Given the description of an element on the screen output the (x, y) to click on. 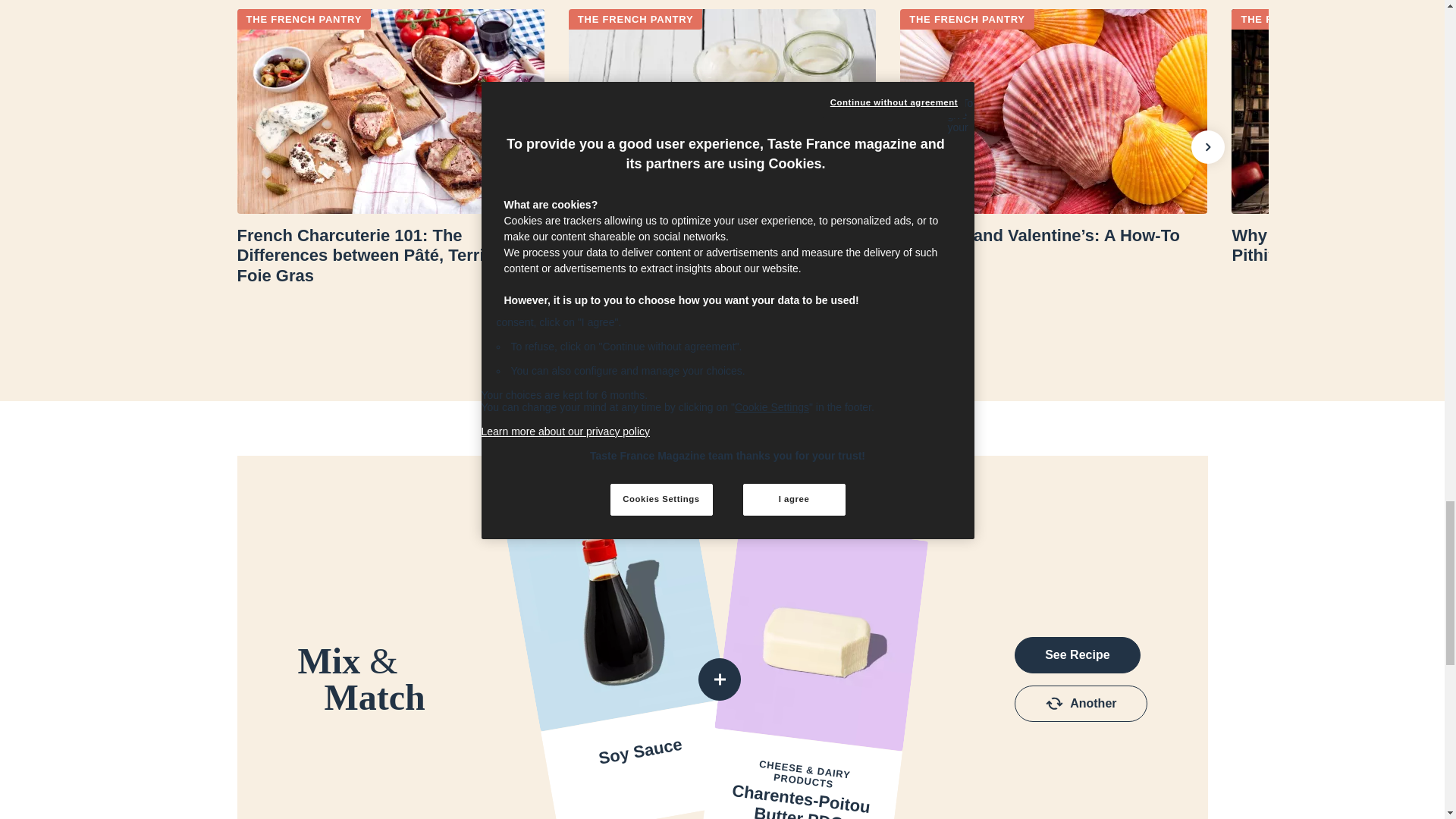
THE FRENCH PANTRY (966, 19)
THE FRENCH PANTRY (636, 19)
See Recipe (1077, 655)
See all articles (721, 334)
Another (1080, 703)
THE FRENCH PANTRY (303, 19)
THE FRENCH PANTRY (1298, 19)
